Given the description of an element on the screen output the (x, y) to click on. 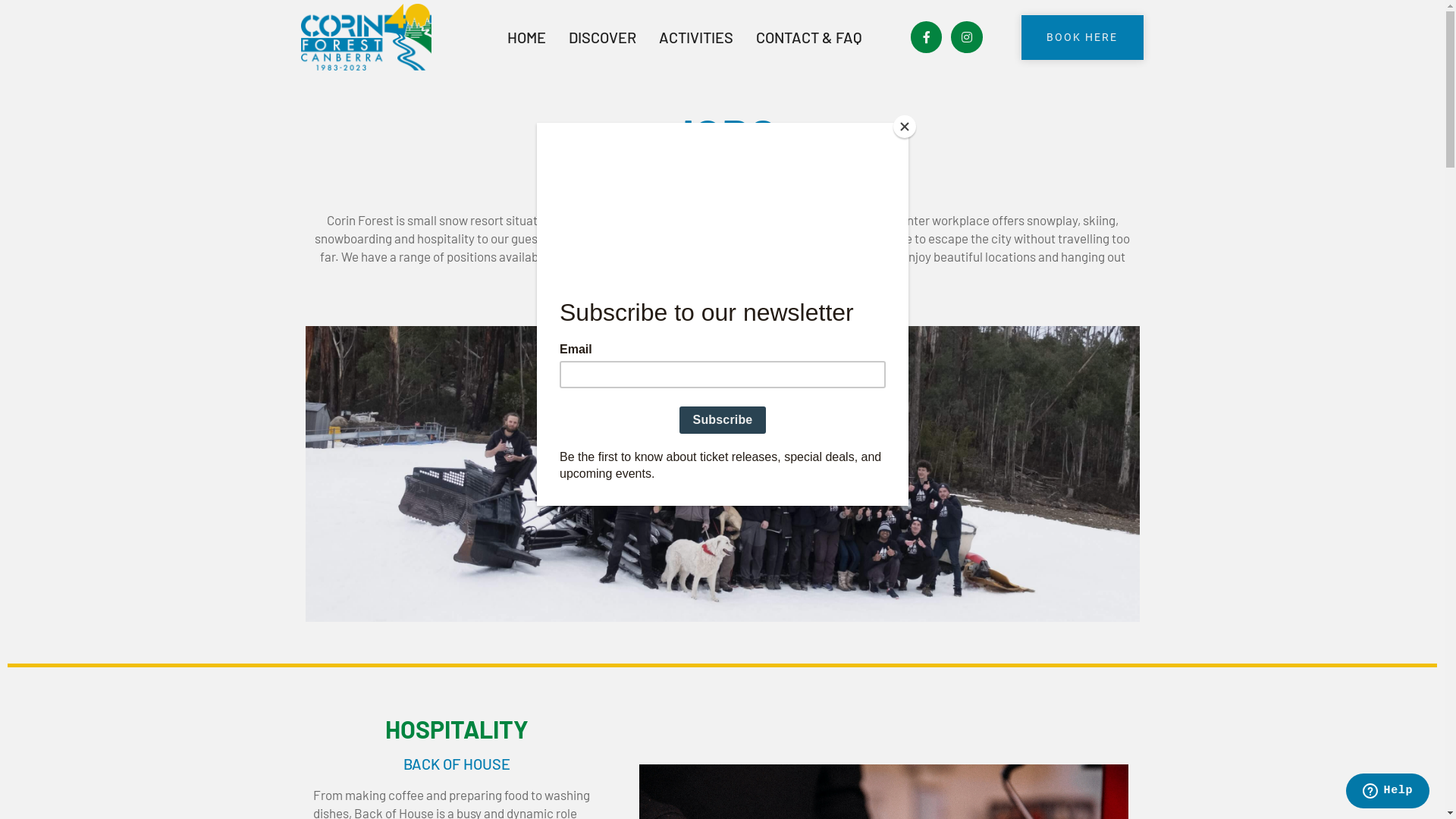
BOOK HERE Element type: text (1082, 37)
ACTIVITIES Element type: text (695, 37)
CONTACT & FAQ Element type: text (809, 37)
HOME Element type: text (526, 37)
Opens a widget where you can find more information Element type: hover (1387, 792)
DISCOVER Element type: text (602, 37)
